Given the description of an element on the screen output the (x, y) to click on. 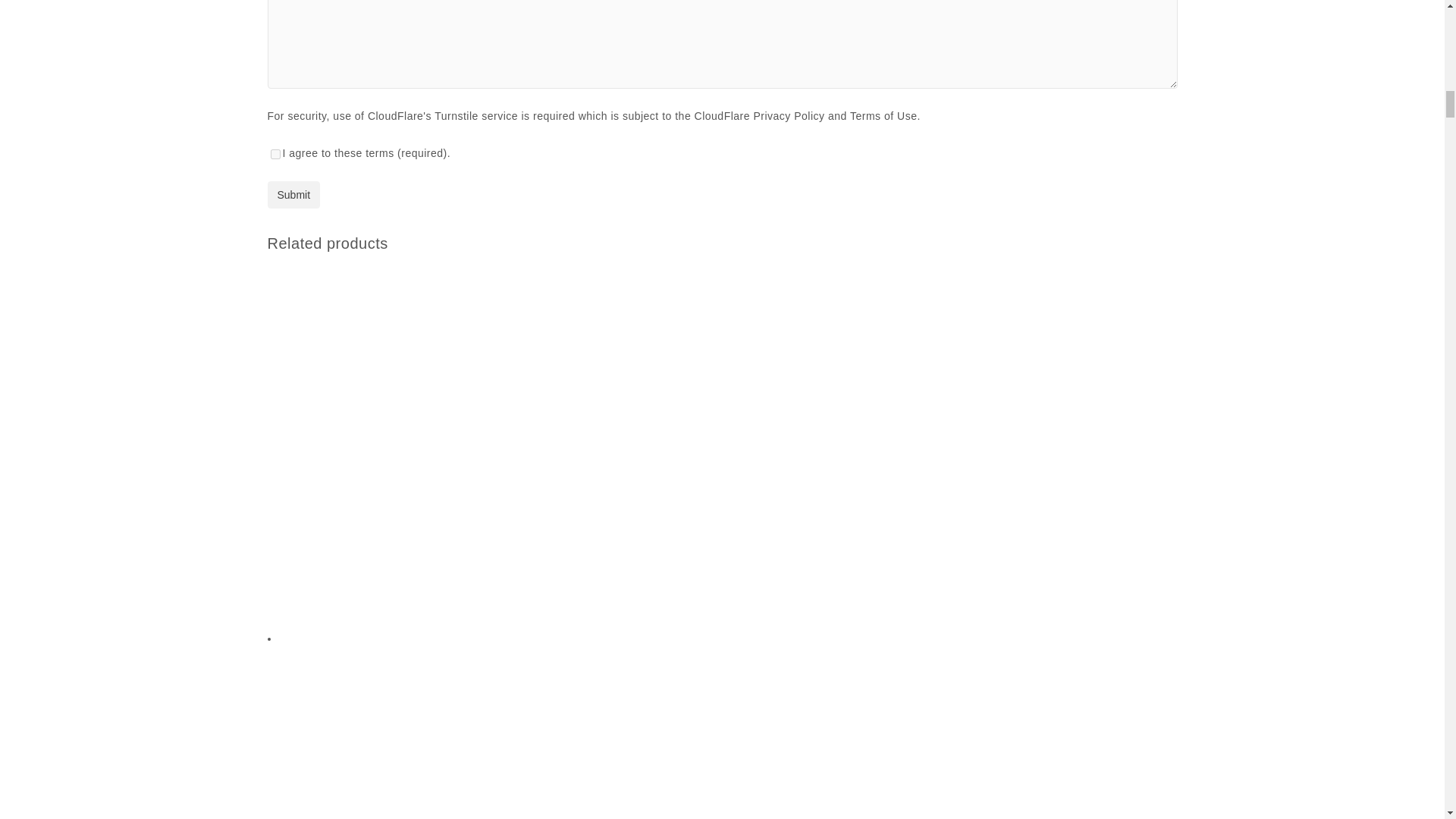
Submit (293, 194)
on (274, 153)
